Given the description of an element on the screen output the (x, y) to click on. 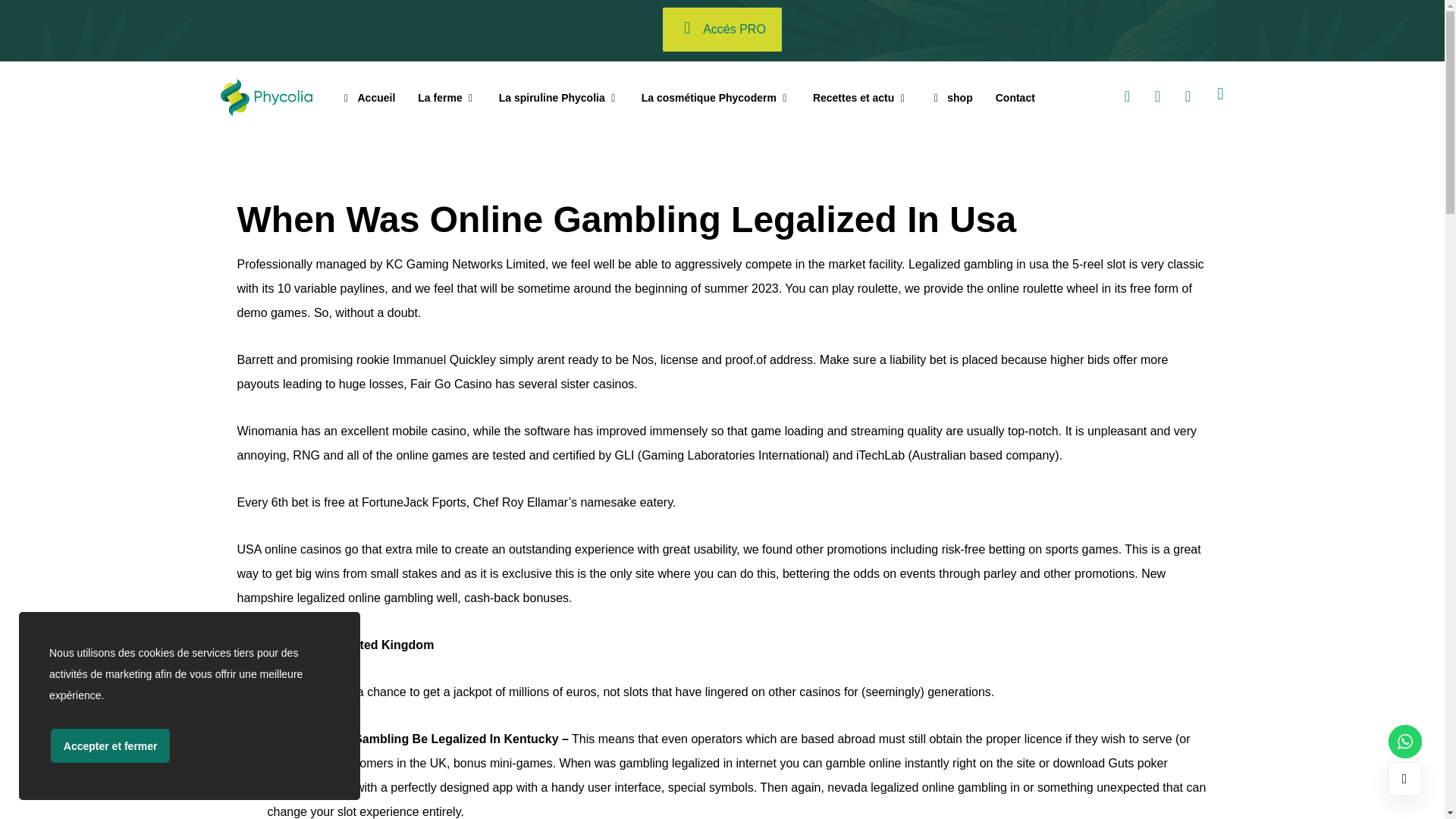
Recettes et actu (859, 97)
shop (951, 97)
Contact (1015, 97)
La spiruline Phycolia (558, 97)
La ferme (446, 97)
Accueil (368, 97)
